Given the description of an element on the screen output the (x, y) to click on. 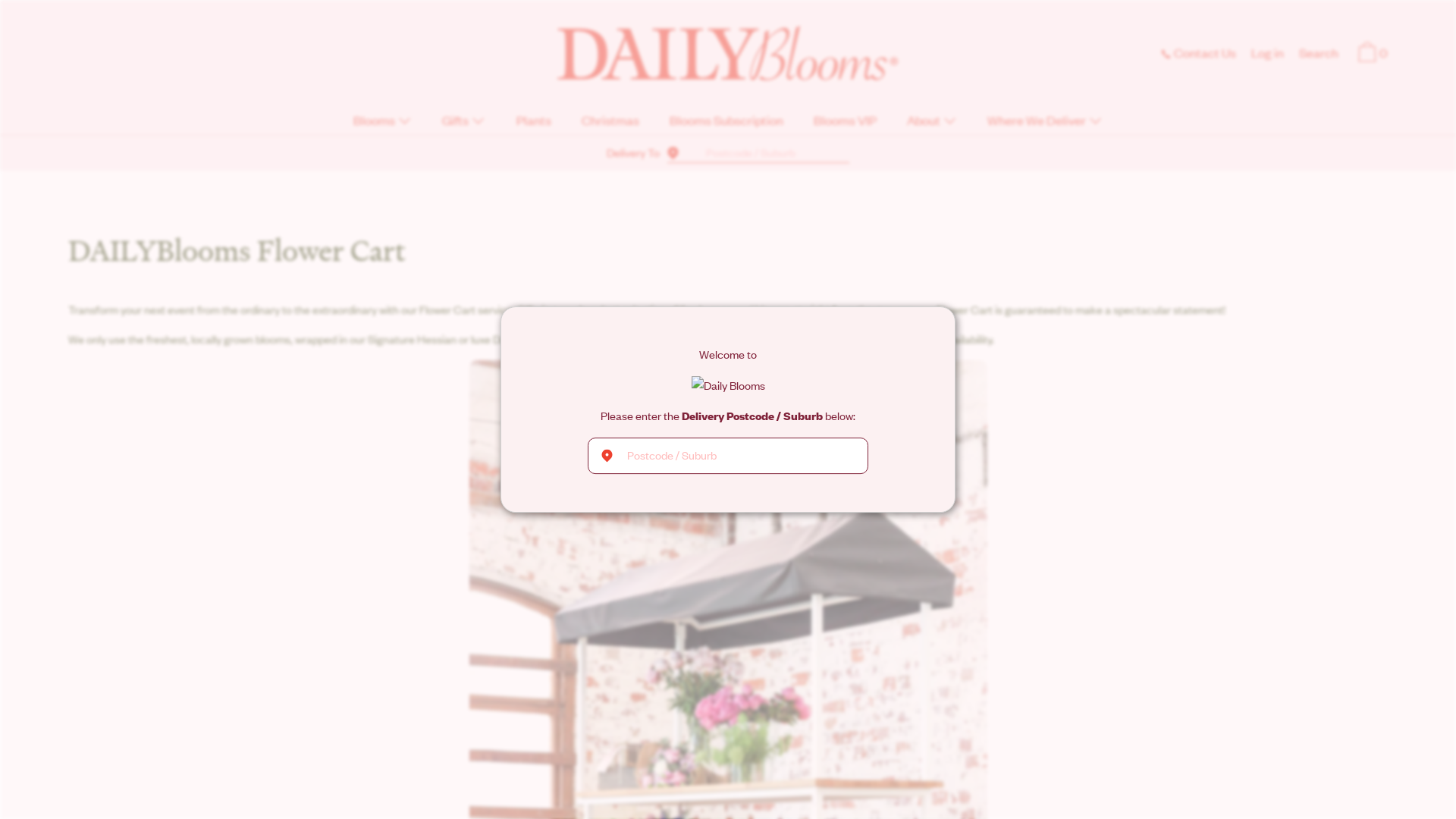
About Element type: text (931, 121)
Blooms Subscription Element type: text (725, 121)
Contact Us Element type: text (1197, 54)
0 Element type: text (1370, 54)
Christmas Element type: text (609, 121)
Search Element type: text (1318, 54)
Plants Element type: text (532, 121)
Blooms Element type: text (382, 121)
Gifts Element type: text (463, 121)
Blooms VIP Element type: text (844, 121)
Log in Element type: text (1267, 54)
Where We Deliver Element type: text (1044, 121)
